Given the description of an element on the screen output the (x, y) to click on. 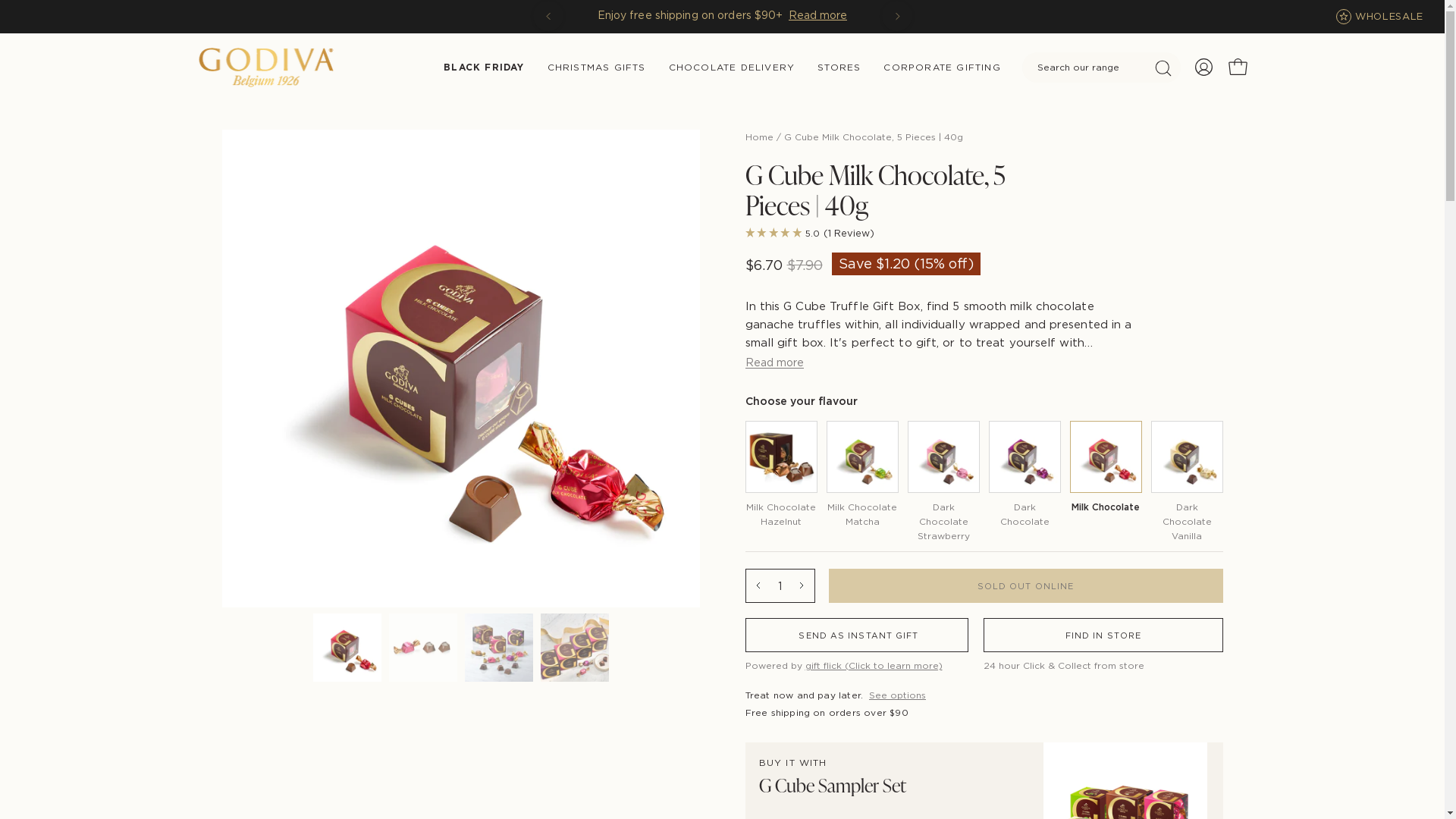
Milk Chocolate Element type: text (1105, 470)
OPEN CART Element type: text (1237, 67)
Quantity - G Cube Milk Chocolate, 5 Pieces | 40g Element type: hover (779, 585)
FIND IN STORE Element type: text (1102, 635)
Home Element type: text (758, 136)
CHOCOLATE DELIVERY Element type: text (731, 67)
SEND AS INSTANT GIFT Element type: text (856, 635)
Dark Chocolate Strawberry Element type: text (942, 481)
WHOLESALE Element type: text (1389, 16)
Dark Chocolate Vanilla Element type: text (1187, 481)
Increase Quantity Element type: text (801, 585)
CHRISTMAS GIFTS Element type: text (596, 67)
STORES Element type: text (839, 67)
MY ACCOUNT Element type: text (1203, 67)
Milk Chocolate Matcha Element type: text (862, 474)
Decrease Quantity Element type: text (757, 585)
G Cube Sampler Set Element type: text (831, 784)
Read more Element type: text (773, 362)
BLACK FRIDAY Element type: text (483, 67)
See options Element type: text (897, 694)
SOLD OUT ONLINE Element type: text (1025, 585)
CORPORATE GIFTING Element type: text (941, 67)
Milk Chocolate Hazelnut Element type: text (780, 474)
Read more Element type: text (800, 14)
Dark Chocolate Element type: text (1024, 474)
